Given the description of an element on the screen output the (x, y) to click on. 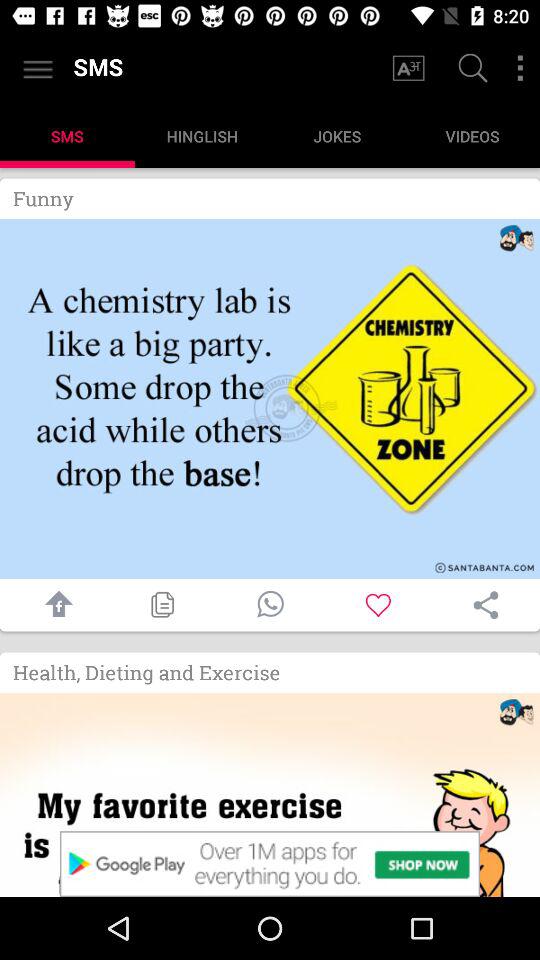
menu dropdown (520, 67)
